Given the description of an element on the screen output the (x, y) to click on. 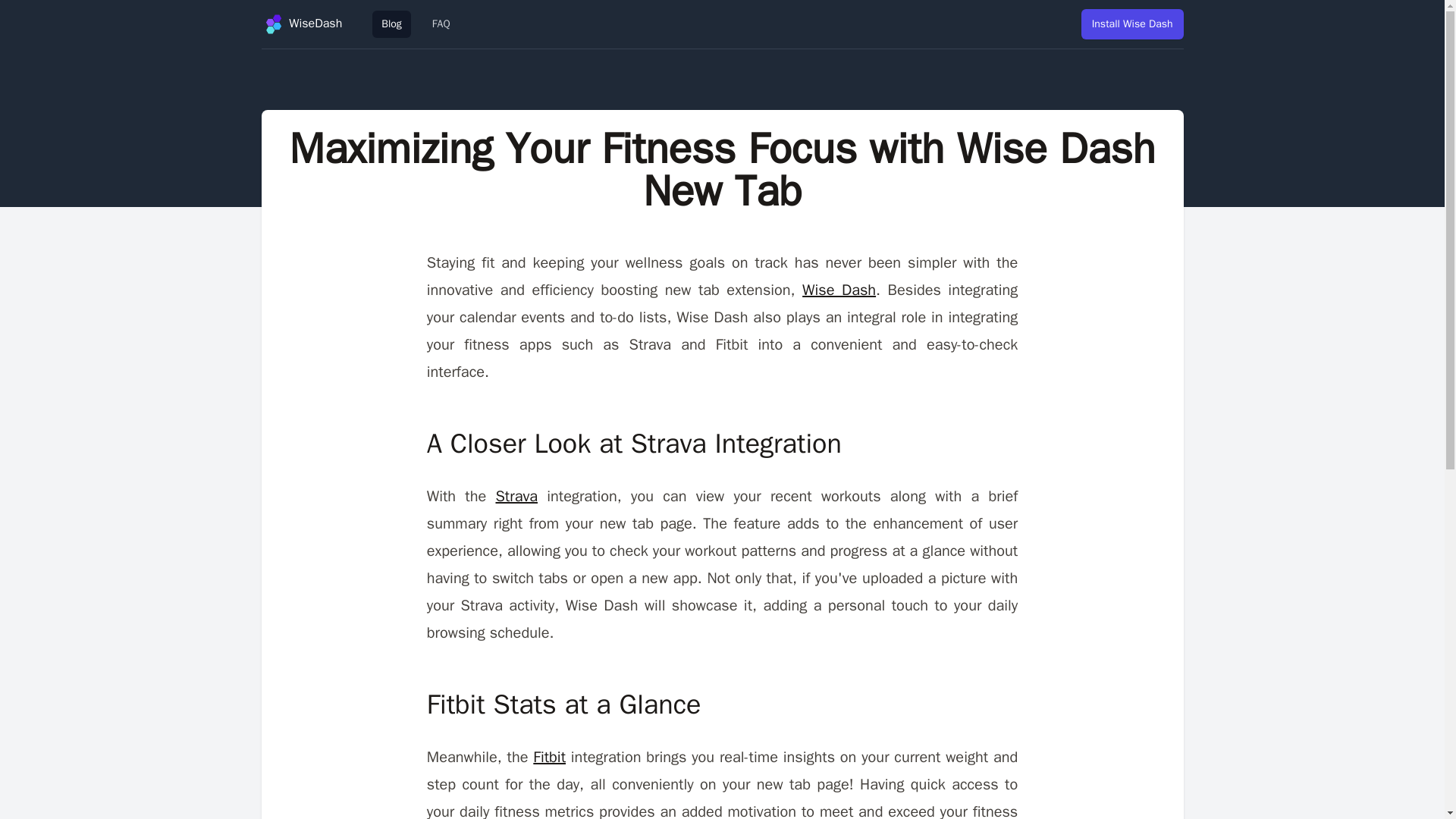
Wise Dash (839, 289)
Strava (516, 496)
Install Wise Dash (1132, 24)
Fitbit (549, 756)
FAQ (441, 23)
Blog (391, 23)
WiseDash (301, 24)
